Given the description of an element on the screen output the (x, y) to click on. 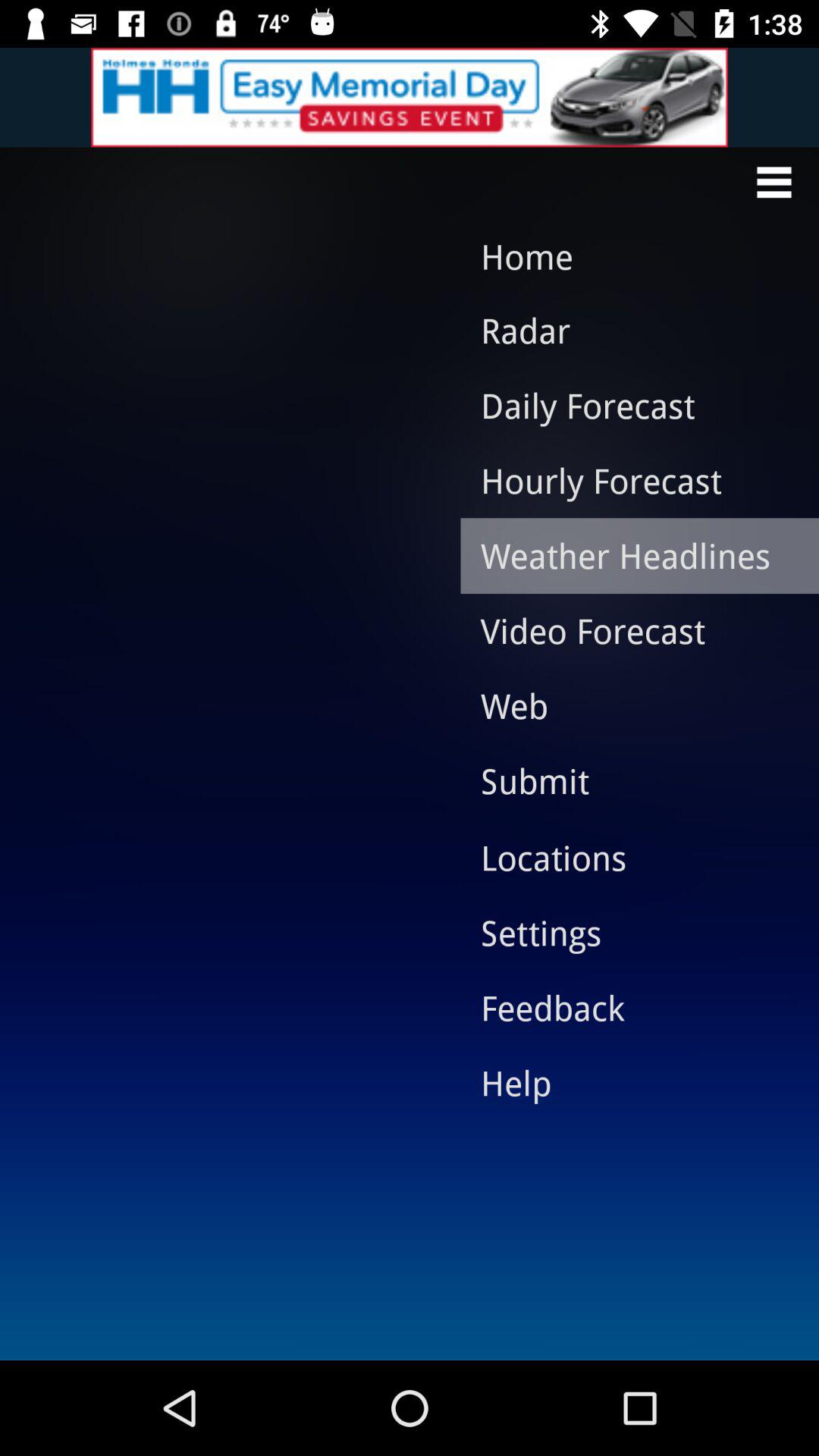
scroll to the feedback icon (627, 1007)
